Given the description of an element on the screen output the (x, y) to click on. 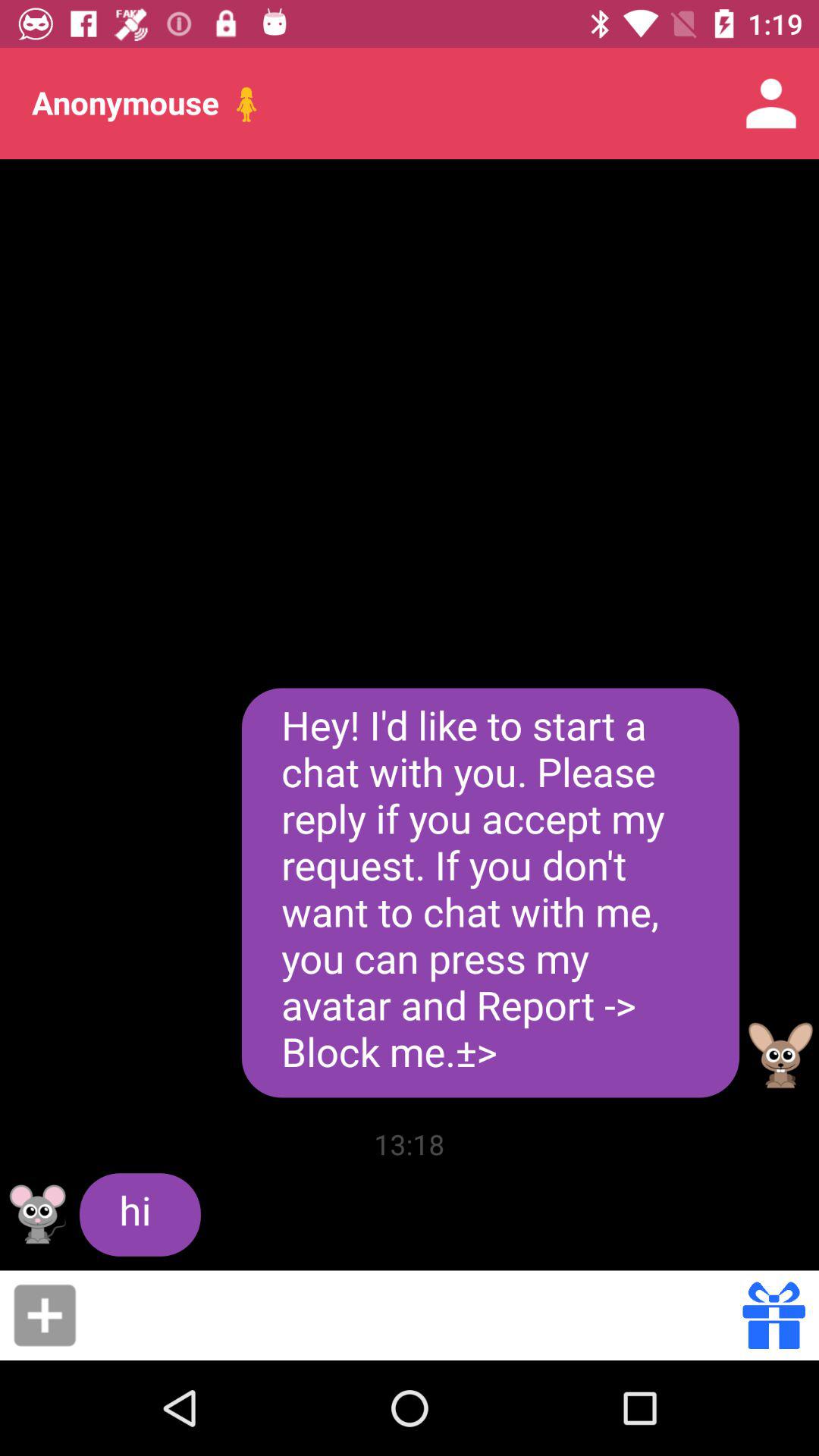
scroll to the hey i d (490, 892)
